Given the description of an element on the screen output the (x, y) to click on. 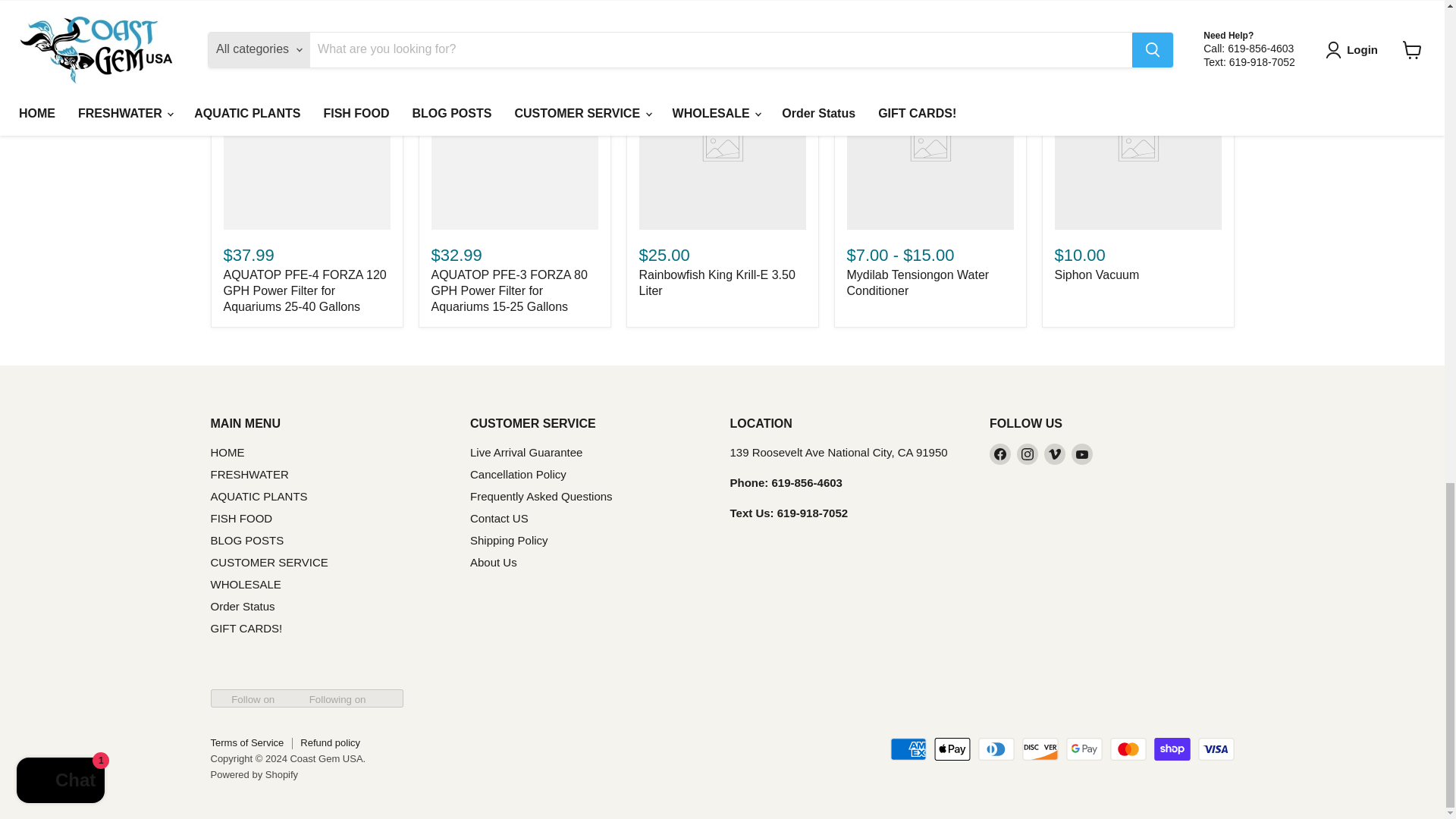
Vimeo (1054, 454)
YouTube (1082, 454)
Facebook (1000, 454)
Instagram (1027, 454)
